Given the description of an element on the screen output the (x, y) to click on. 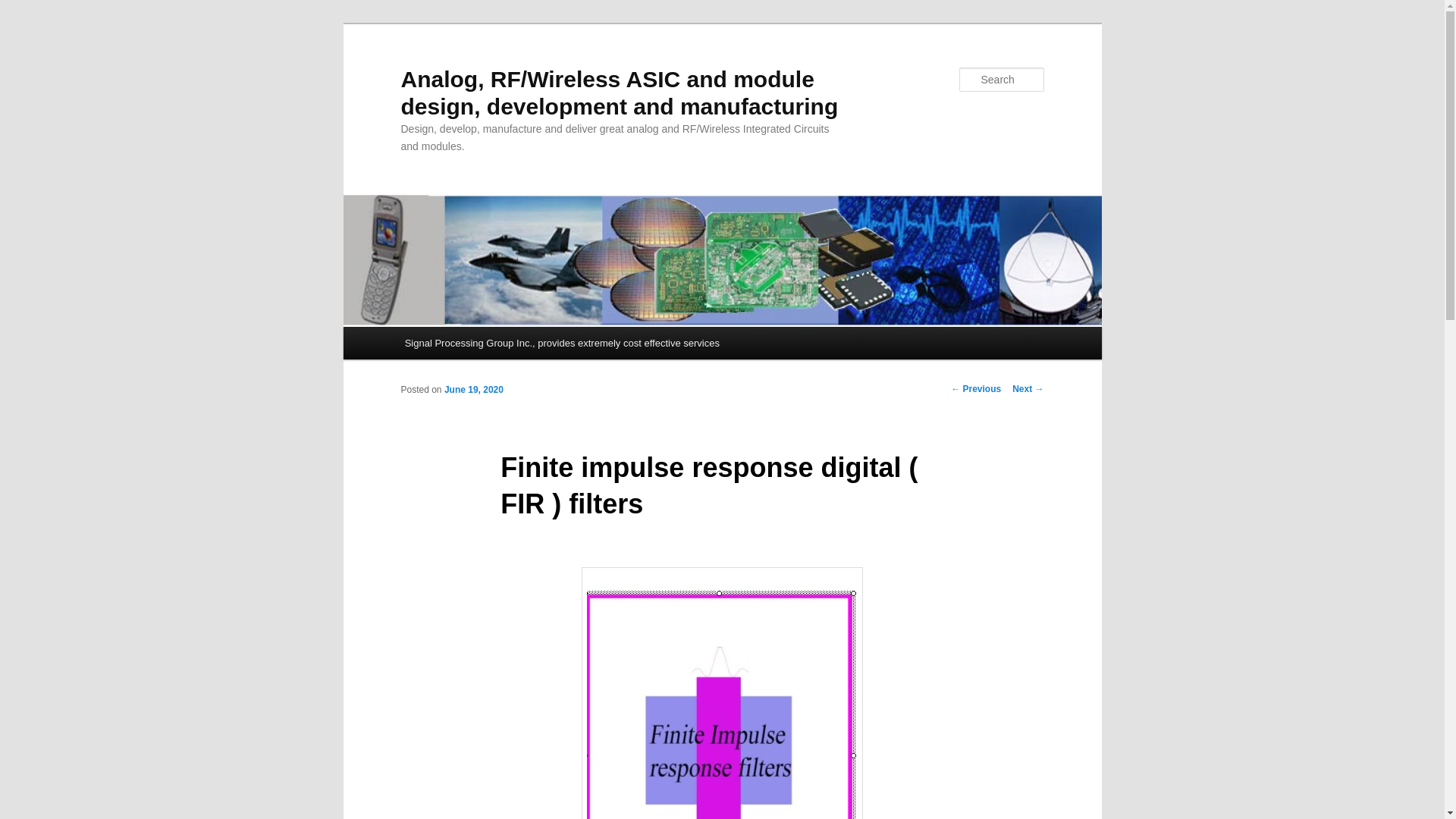
Search (24, 8)
Skip to secondary content (479, 345)
Skip to primary content (472, 345)
Skip to secondary content (479, 345)
4:29 pm (473, 389)
Skip to primary content (472, 345)
June 19, 2020 (473, 389)
